Given the description of an element on the screen output the (x, y) to click on. 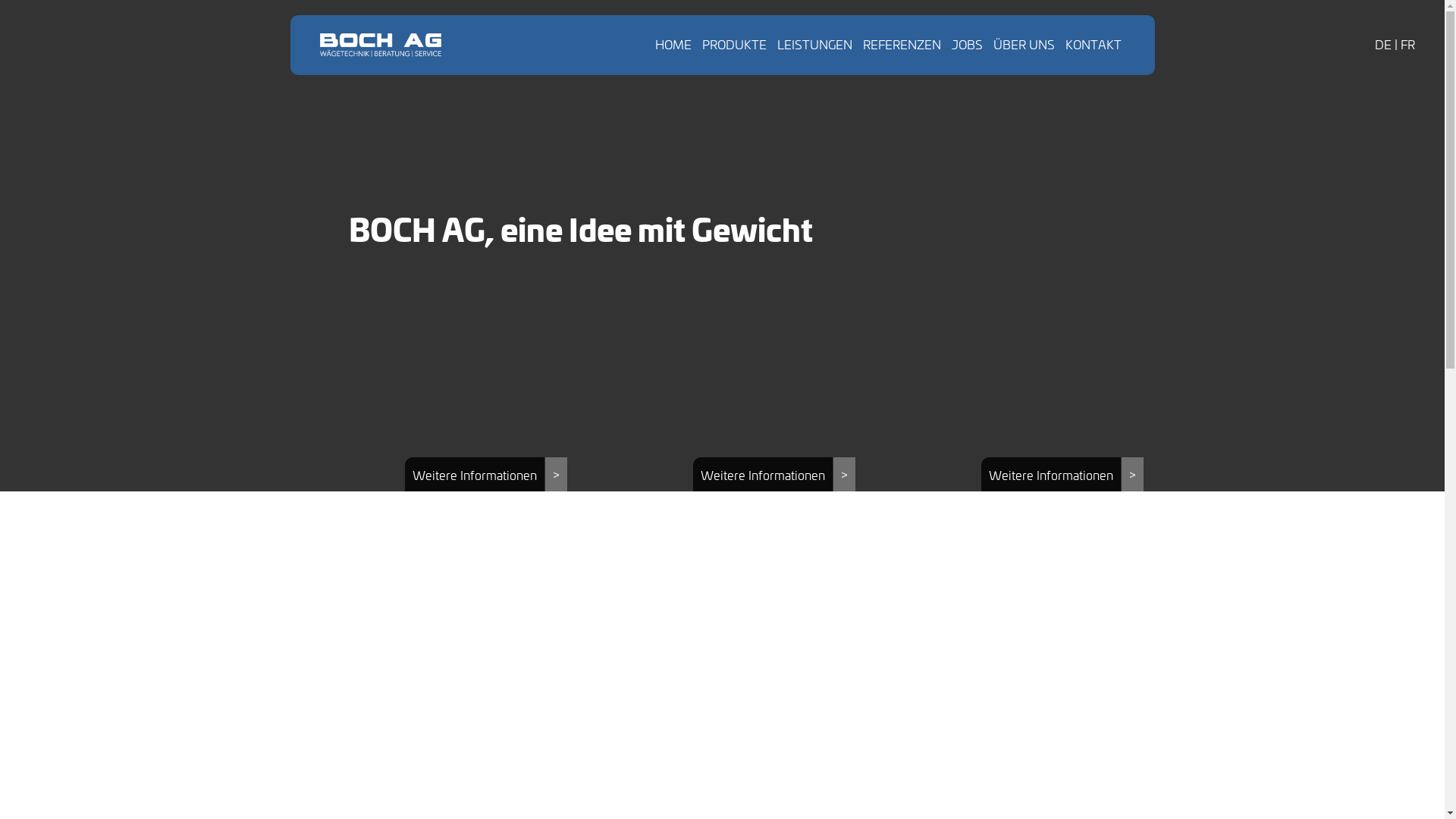
FR Element type: text (1407, 43)
JOBS Element type: text (966, 43)
REFERENZEN Element type: text (901, 43)
PRODUKTE Element type: text (734, 43)
DE Element type: text (1382, 43)
LEISTUNGEN Element type: text (813, 43)
KONTAKT Element type: text (1092, 43)
HOME Element type: text (673, 43)
